Given the description of an element on the screen output the (x, y) to click on. 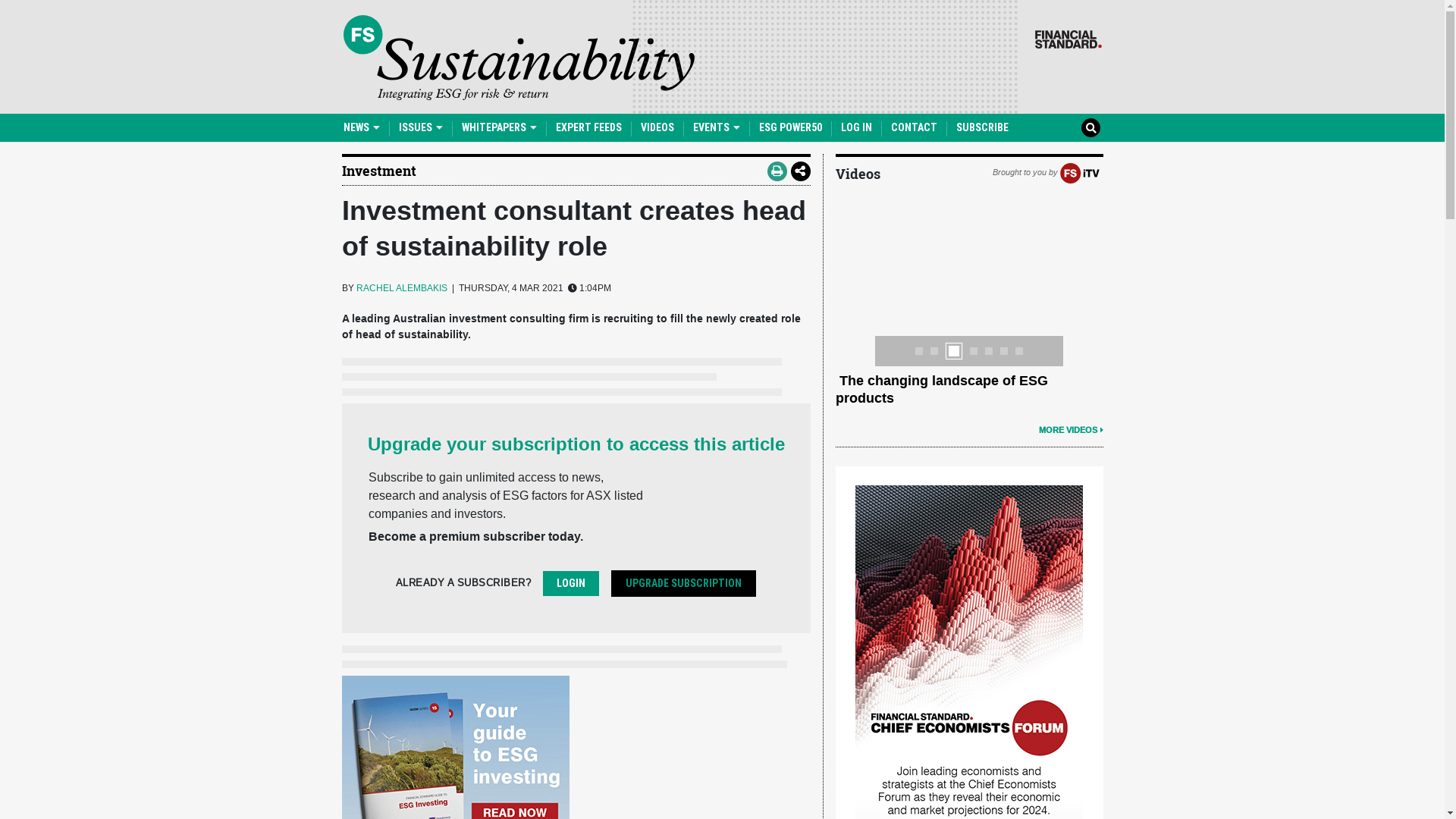
CONTACT Element type: text (913, 127)
VIDEOS Element type: text (656, 127)
EVENTS Element type: text (716, 127)
EXPERT FEEDS Element type: text (588, 127)
FSiTV Element type: hover (1079, 171)
Investment Element type: text (378, 170)
MORE VIDEOS Element type: text (1070, 429)
NEWS Element type: text (360, 127)
Print Element type: hover (777, 170)
SUBSCRIBE Element type: text (981, 127)
LOG IN Element type: text (855, 127)
WHITEPAPERS Element type: text (498, 127)
FS Sustainability Element type: hover (517, 57)
UPGRADE SUBSCRIPTION Element type: text (683, 583)
ESG POWER50 Element type: text (789, 127)
LOGIN Element type: text (570, 583)
RACHEL ALEMBAKIS Element type: text (401, 287)
ISSUES Element type: text (420, 127)
Powered by Financial Standard Element type: hover (1067, 39)
